Given the description of an element on the screen output the (x, y) to click on. 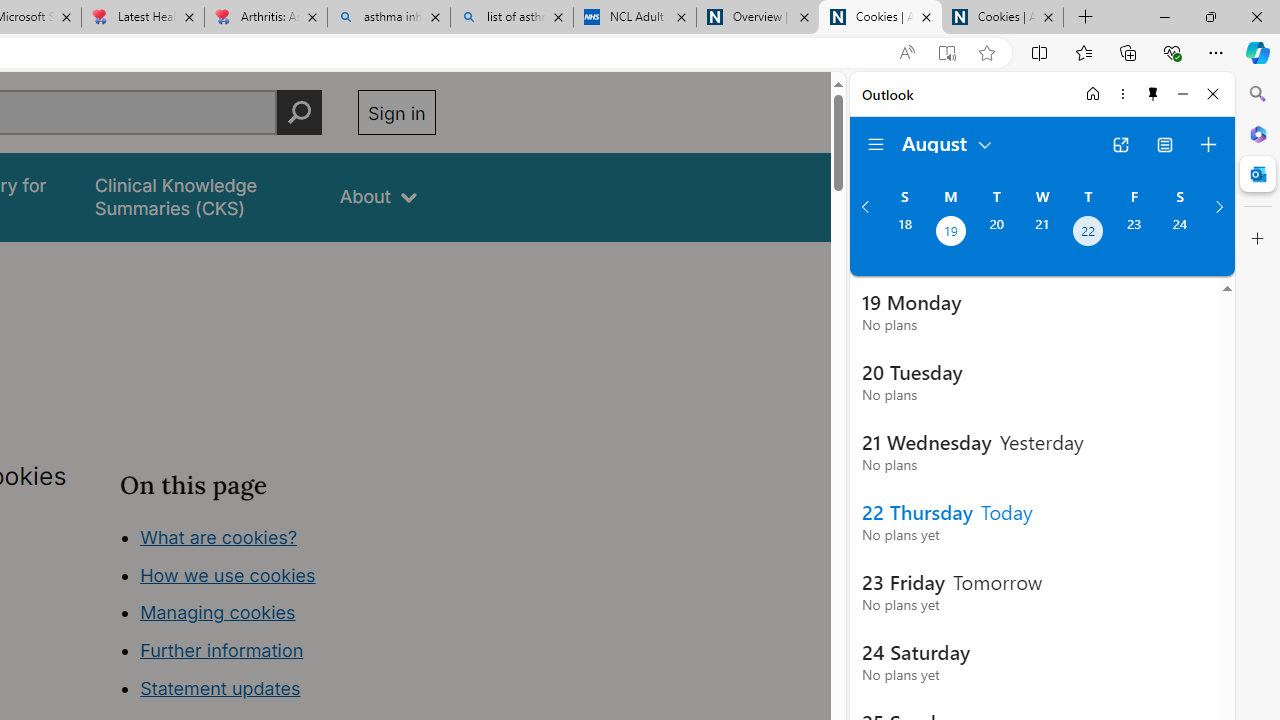
August (948, 141)
Folder navigation (876, 144)
Statement updates (219, 688)
Tuesday, August 20, 2024.  (996, 233)
Friday, August 23, 2024.  (1134, 233)
